Given the description of an element on the screen output the (x, y) to click on. 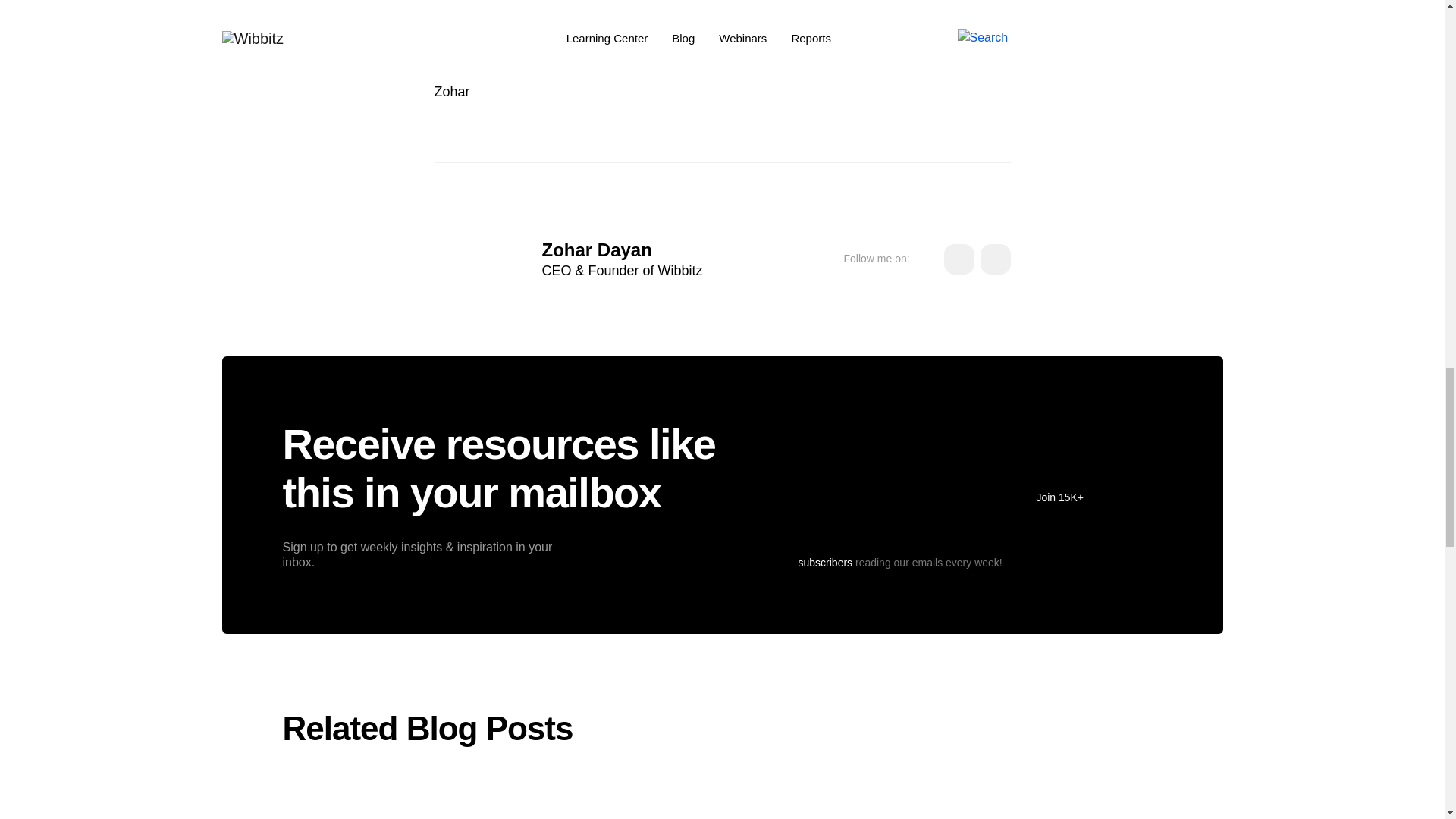
Linkedin (958, 259)
twitter (994, 259)
